Given the description of an element on the screen output the (x, y) to click on. 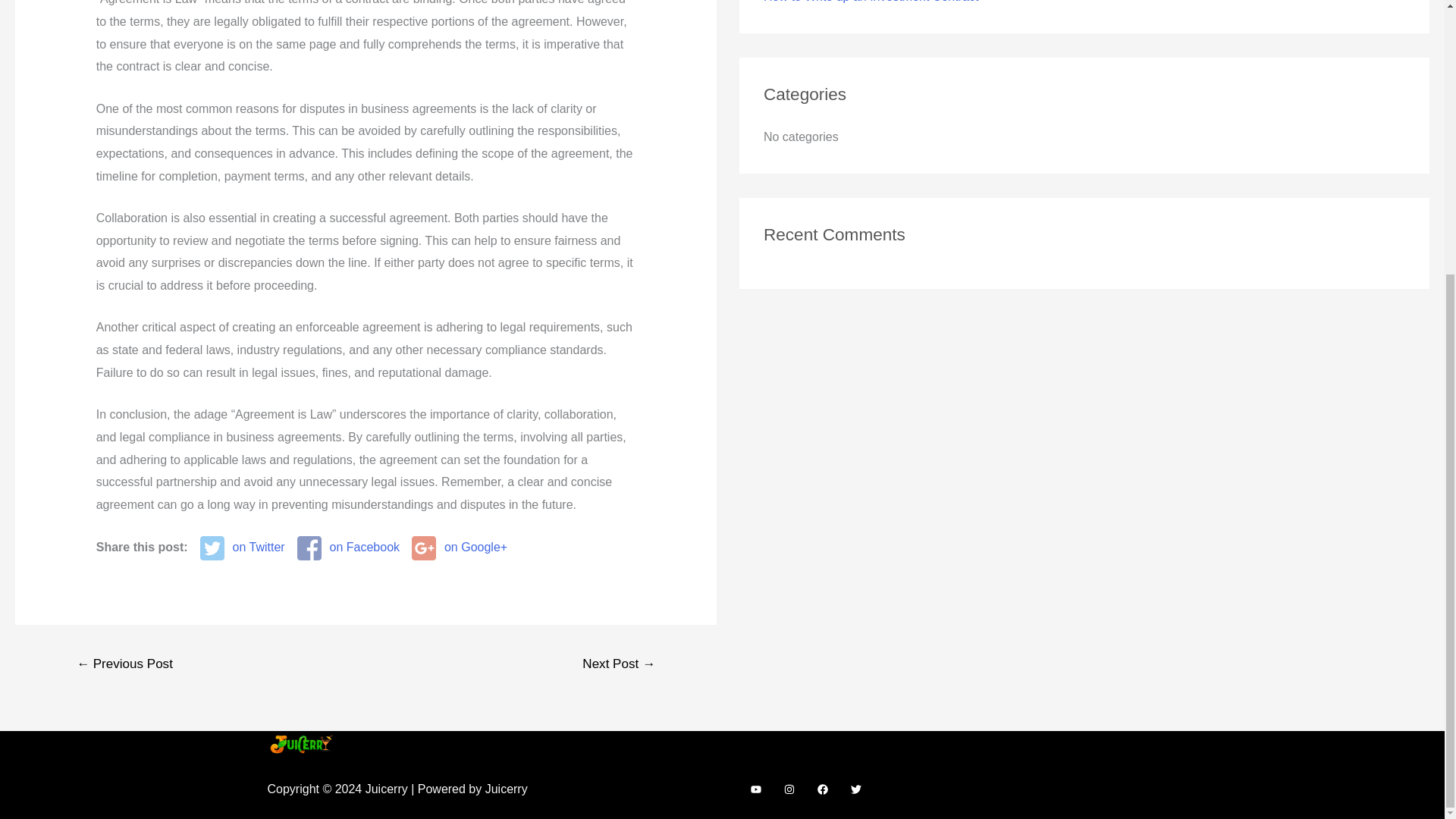
on Facebook (347, 547)
on Twitter (242, 547)
How to Write up an Investment Contract (870, 1)
